Given the description of an element on the screen output the (x, y) to click on. 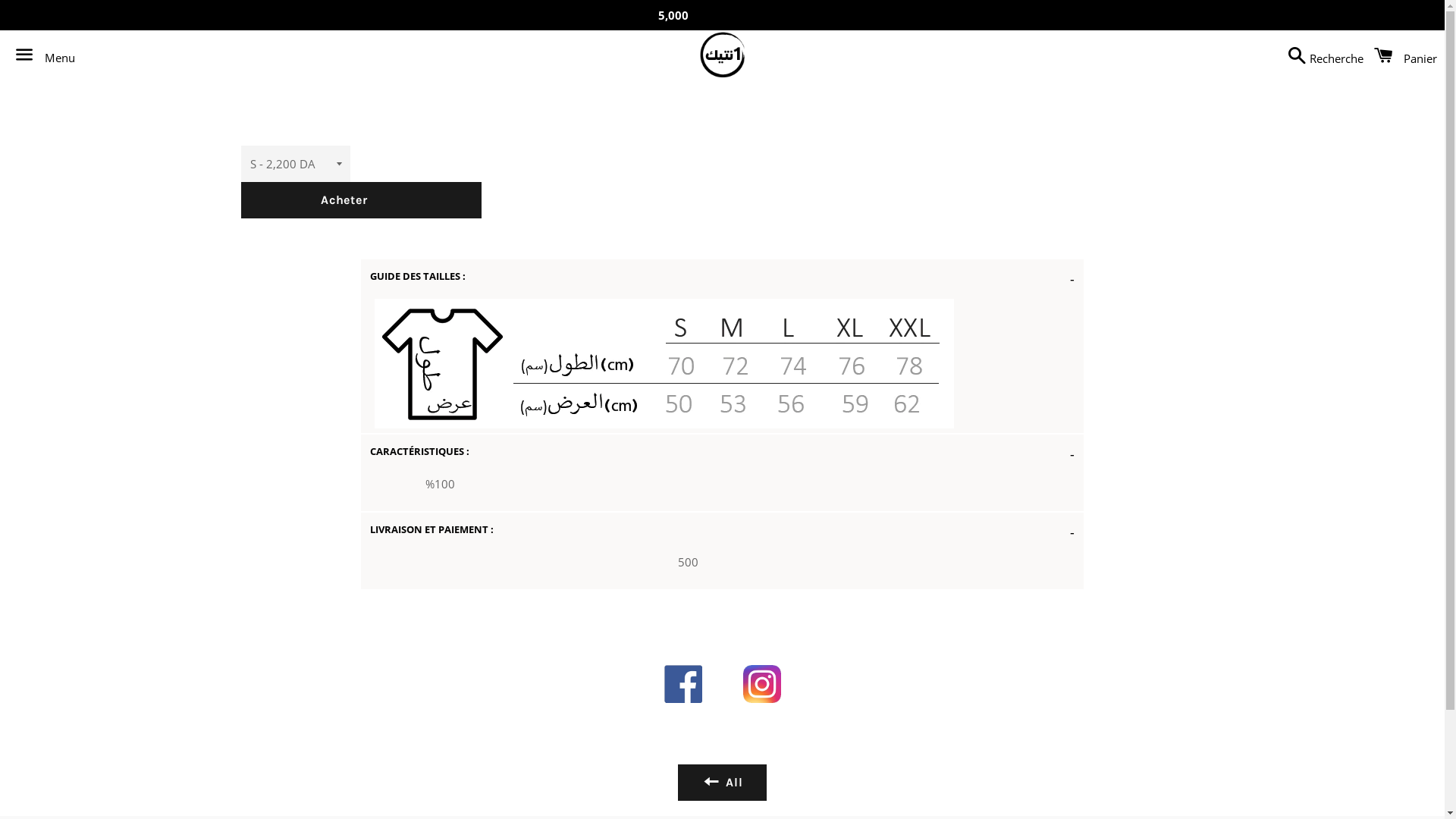
Recherche Element type: text (1321, 54)
Menu Element type: text (41, 54)
Panier Element type: text (1401, 54)
LIVRAISON ET PAIEMENT : Element type: text (721, 532)
All Element type: text (721, 782)
GUIDE DES TAILLES : Element type: text (721, 279)
